Given the description of an element on the screen output the (x, y) to click on. 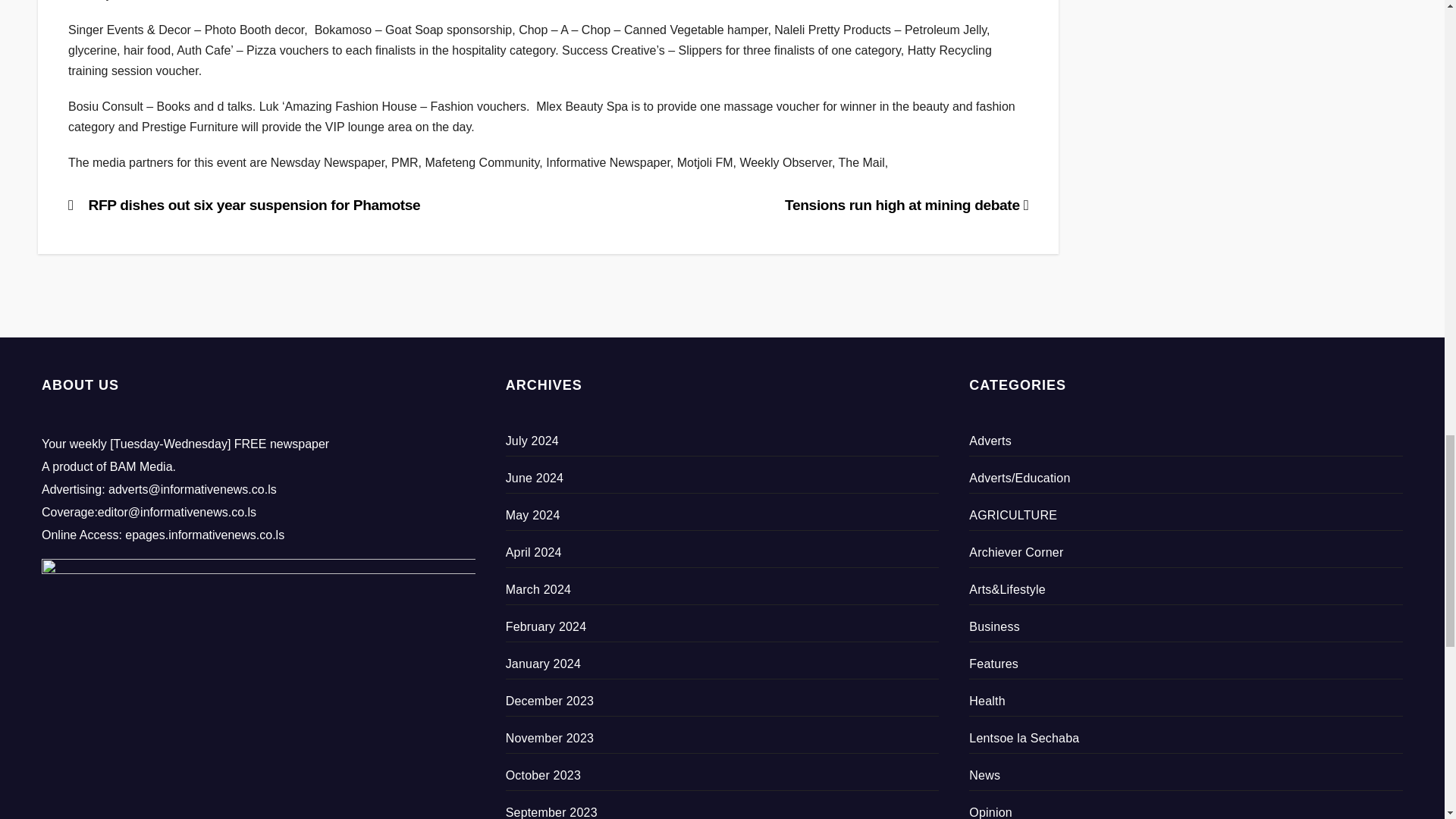
July 2024 (532, 440)
March 2024 (538, 589)
   RFP dishes out six year suspension for Phamotse (244, 204)
April 2024 (533, 552)
June 2024 (534, 477)
May 2024 (532, 514)
Tensions run high at mining debate (905, 204)
